Given the description of an element on the screen output the (x, y) to click on. 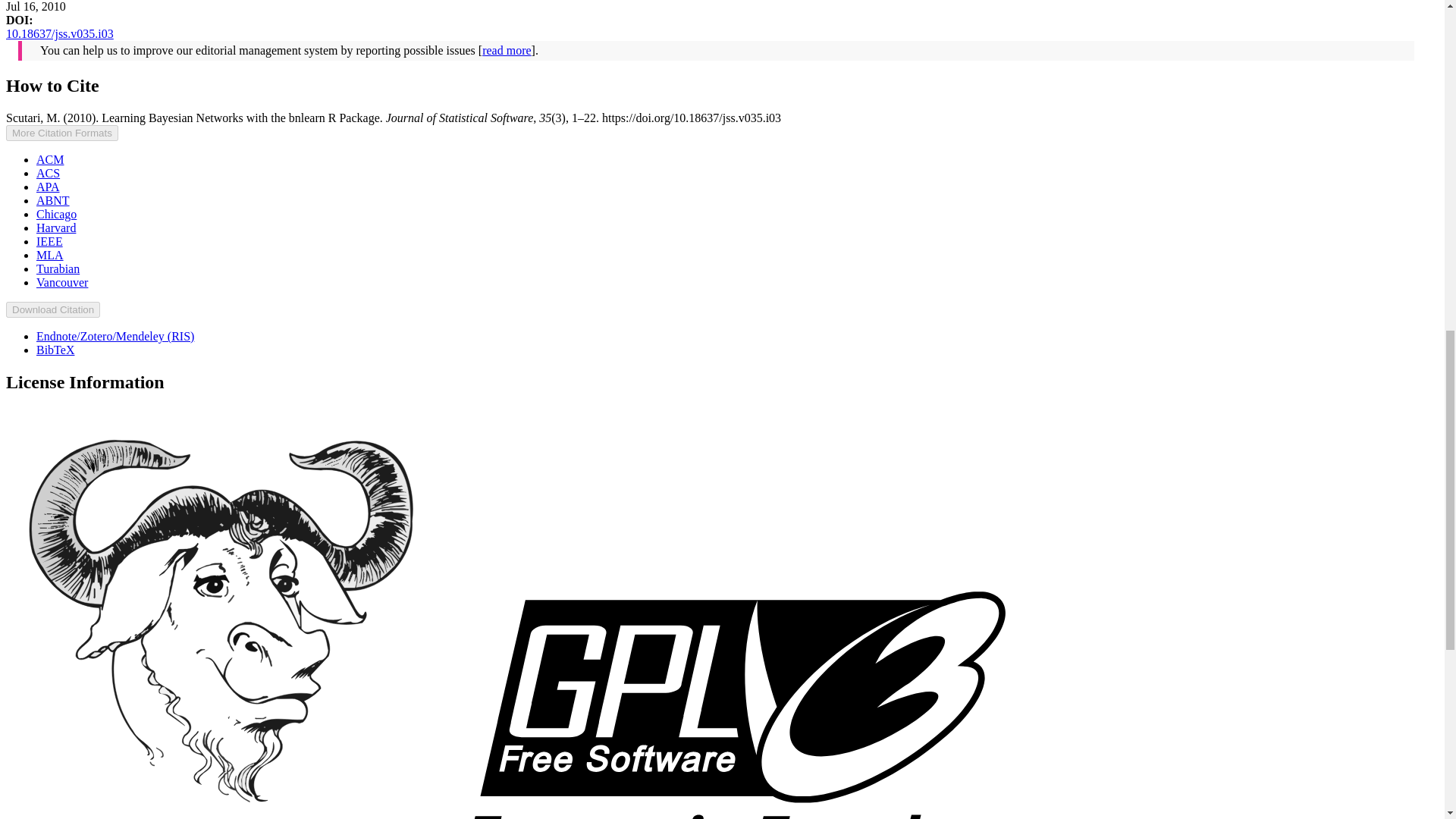
More Citation Formats (61, 132)
ABNT (52, 200)
ACS (47, 173)
Chicago (56, 214)
APA (47, 186)
Harvard (55, 227)
read more (506, 50)
IEEE (49, 241)
ACM (50, 159)
